Given the description of an element on the screen output the (x, y) to click on. 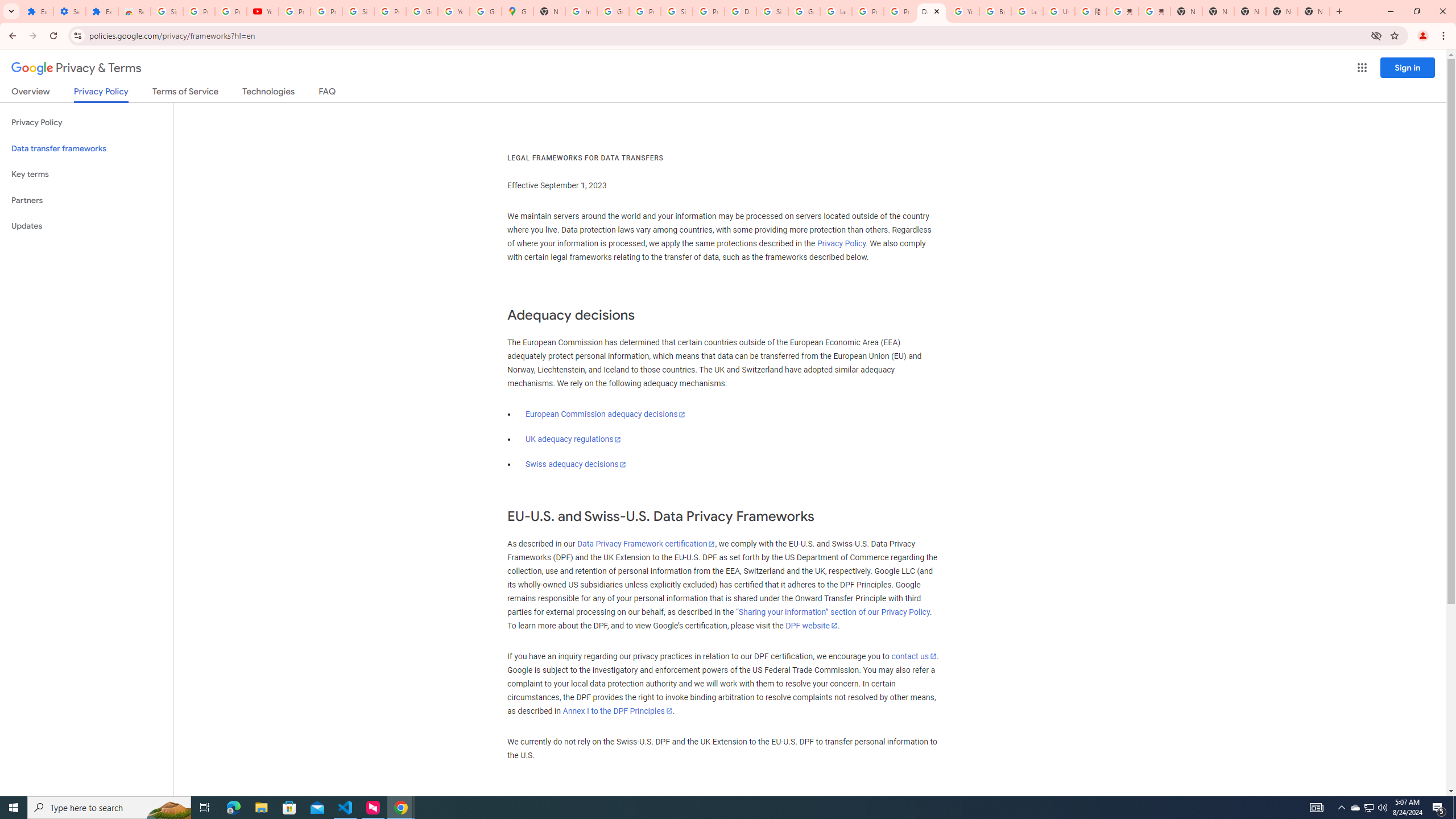
Privacy Help Center - Policies Help (868, 11)
Privacy Help Center - Policies Help (899, 11)
Google Account (421, 11)
Annex I to the DPF Principles (617, 710)
Extensions (37, 11)
Sign in - Google Accounts (166, 11)
YouTube (963, 11)
